Given the description of an element on the screen output the (x, y) to click on. 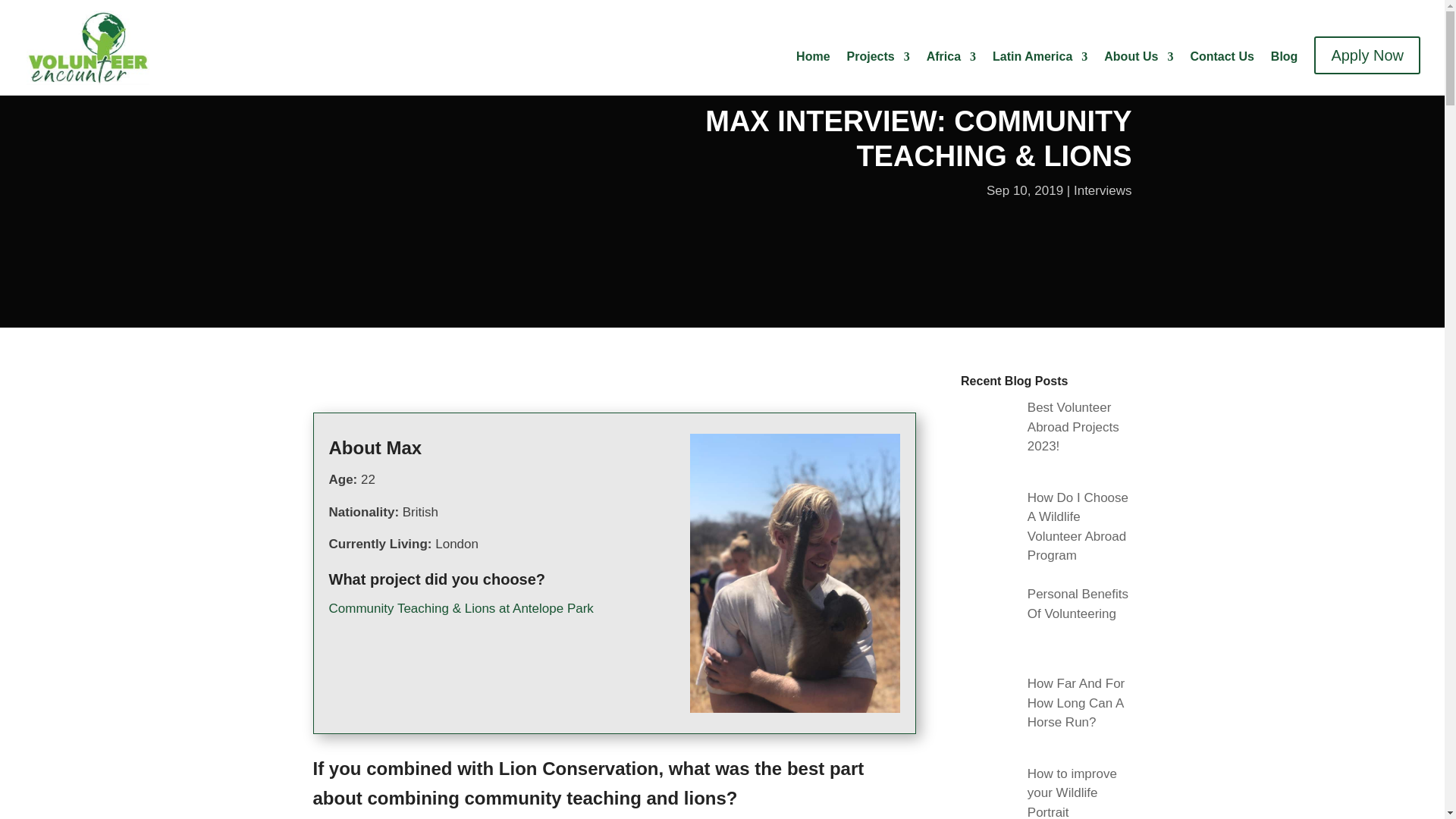
Apply Now (1367, 58)
Contact Us (1221, 67)
Projects (878, 67)
How Far And For How Long Can A Horse Run? (1076, 702)
Africa (950, 67)
Interviews (1103, 190)
Personal Benefits Of Volunteering (1077, 603)
Best Volunteer Abroad Projects 2023! (1073, 426)
Latin America (1039, 67)
About Us (1138, 67)
Home (812, 67)
How Do I Choose A Wildlife Volunteer Abroad Program (1077, 526)
How to improve your Wildlife Portrait Photography (1071, 792)
